Given the description of an element on the screen output the (x, y) to click on. 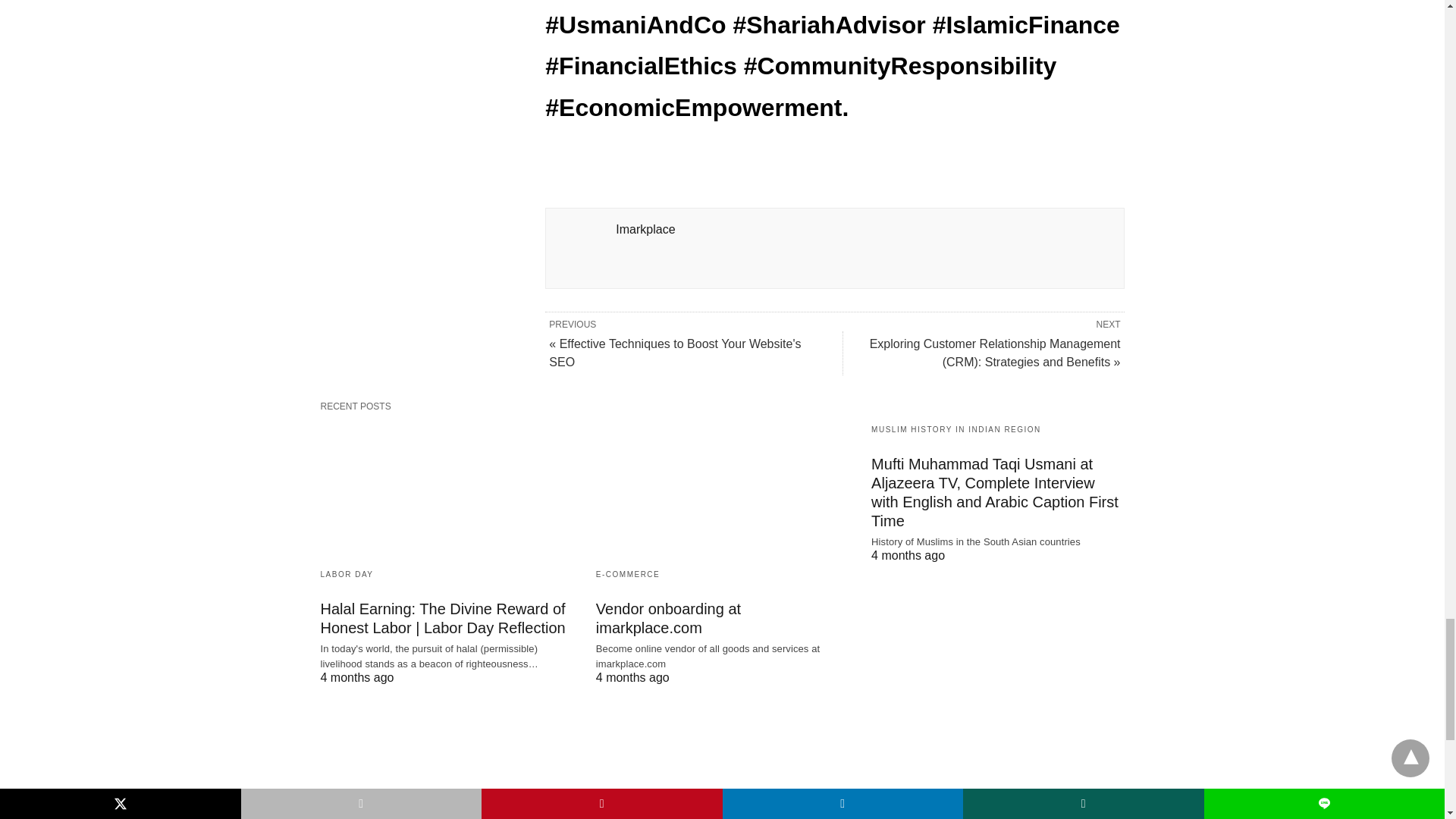
MUSLIM HISTORY IN INDIAN REGION (955, 429)
Vendor onboarding at imarkplace.com (668, 618)
E-COMMERCE (627, 574)
Vendor onboarding at imarkplace.com (721, 488)
LABOR DAY (346, 574)
